Given the description of an element on the screen output the (x, y) to click on. 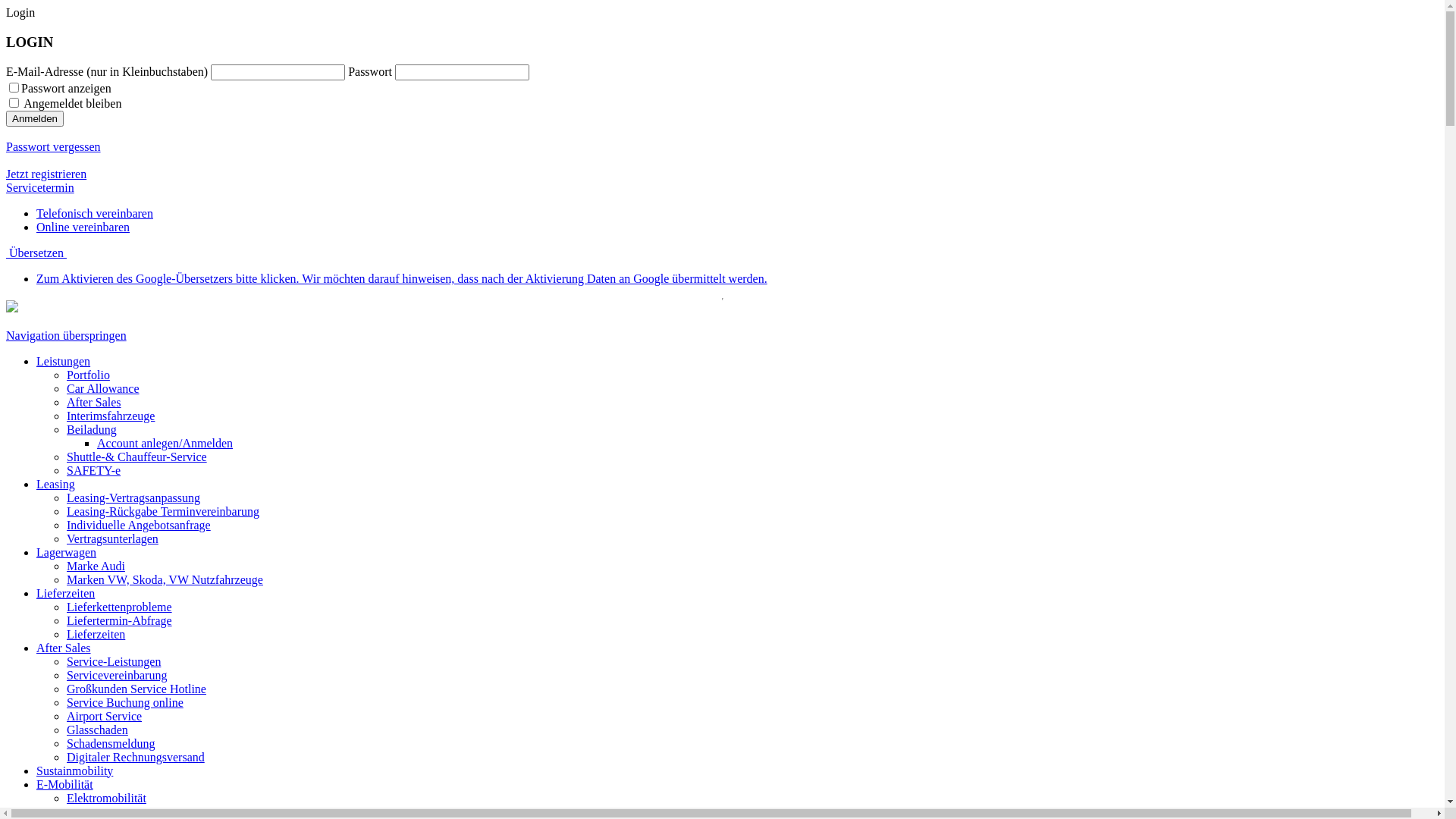
Leistungen Element type: text (63, 360)
Portfolio Element type: text (87, 374)
Leasing Element type: text (55, 483)
After Sales Element type: text (63, 647)
  Element type: text (7, 321)
Servicevereinbarung Element type: text (116, 674)
Digitaler Rechnungsversand Element type: text (135, 756)
on Element type: text (13, 87)
Lieferkettenprobleme Element type: text (119, 606)
Schadensmeldung Element type: text (110, 743)
Service-Leistungen Element type: text (113, 661)
Marke Audi Element type: text (95, 565)
Jetzt registrieren Element type: text (46, 173)
Service Buchung online Element type: text (124, 702)
Marken VW, Skoda, VW Nutzfahrzeuge Element type: text (164, 579)
SAFETY-e Element type: text (93, 470)
Passwort vergessen Element type: text (53, 146)
Account anlegen/Anmelden Element type: text (164, 442)
Leasing-Vertragsanpassung Element type: text (133, 497)
Sustainmobility Element type: text (74, 770)
Beiladung Element type: text (91, 429)
Lieferzeiten Element type: text (65, 592)
Servicetermin Element type: text (40, 187)
Online vereinbaren Element type: text (82, 226)
Open mobile navigation Element type: hover (7, 321)
Car Allowance Element type: text (102, 388)
Liefertermin-Abfrage Element type: text (119, 620)
Shuttle-& Chauffeur-Service Element type: text (136, 456)
Vertragsunterlagen Element type: text (112, 538)
Glasschaden Element type: text (97, 729)
Lieferzeiten Element type: text (95, 633)
After Sales Element type: text (93, 401)
Lagerwagen Element type: text (66, 552)
Individuelle Angebotsanfrage Element type: text (138, 524)
Airport Service Element type: text (103, 715)
Telefonisch vereinbaren Element type: text (94, 213)
Interimsfahrzeuge Element type: text (110, 415)
Anmelden Element type: text (34, 118)
E-Wissen Element type: text (89, 811)
